Given the description of an element on the screen output the (x, y) to click on. 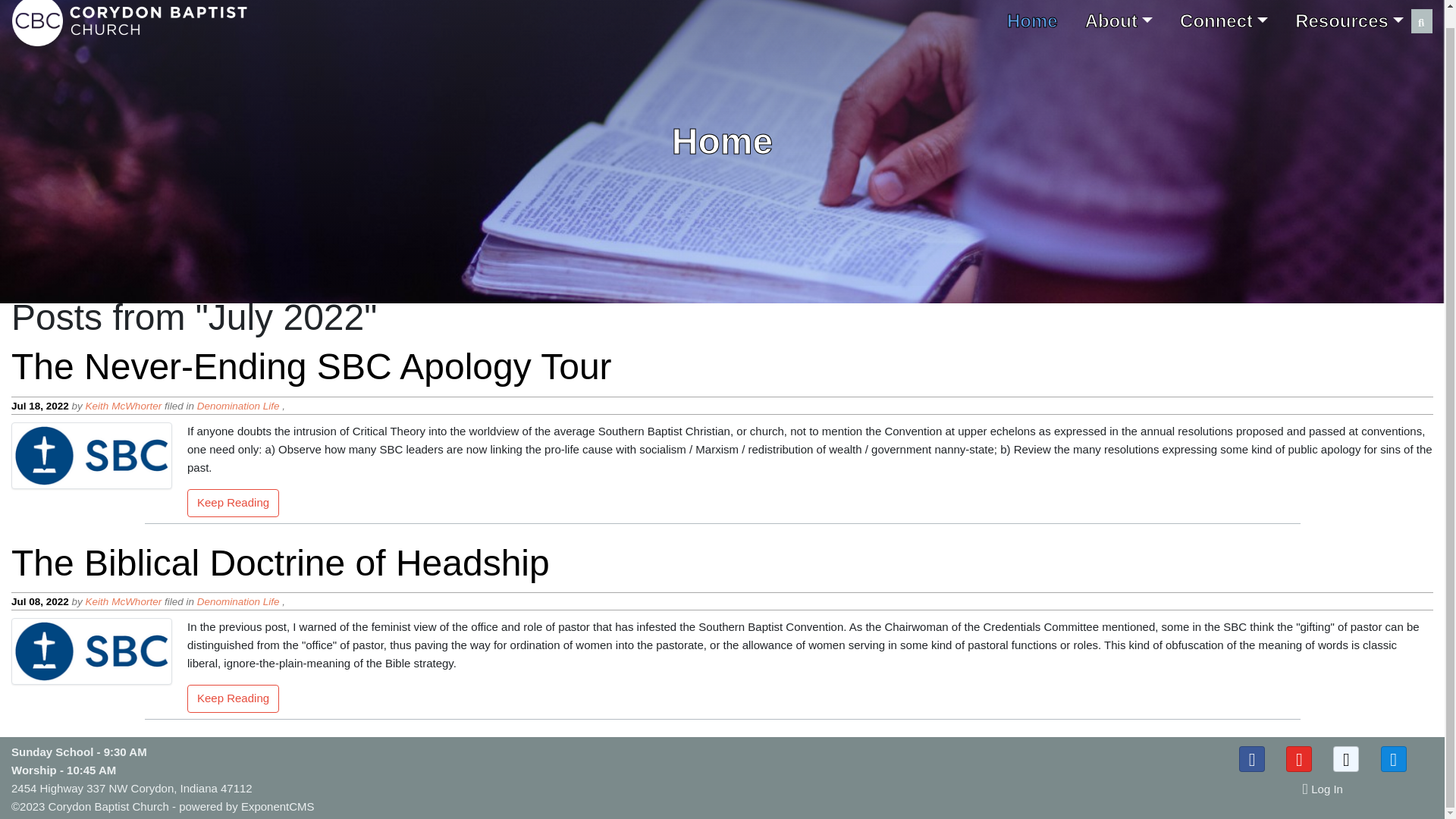
Connect (1223, 20)
Keith McWhorter (123, 405)
Keep Reading (233, 699)
Resources from Corydon Baptist Church (1348, 20)
Keep Reading (233, 504)
Log In (1322, 794)
Denomination Life (237, 405)
Submit (1420, 22)
Connect with CBC (1223, 20)
The Biblical Doctrine of Headship (232, 465)
Resources (1348, 20)
Denomination Life (237, 601)
2454 Highway 337 NW Corydon, Indiana 47112 (131, 788)
ExponentCMS (277, 806)
About (1118, 20)
